Given the description of an element on the screen output the (x, y) to click on. 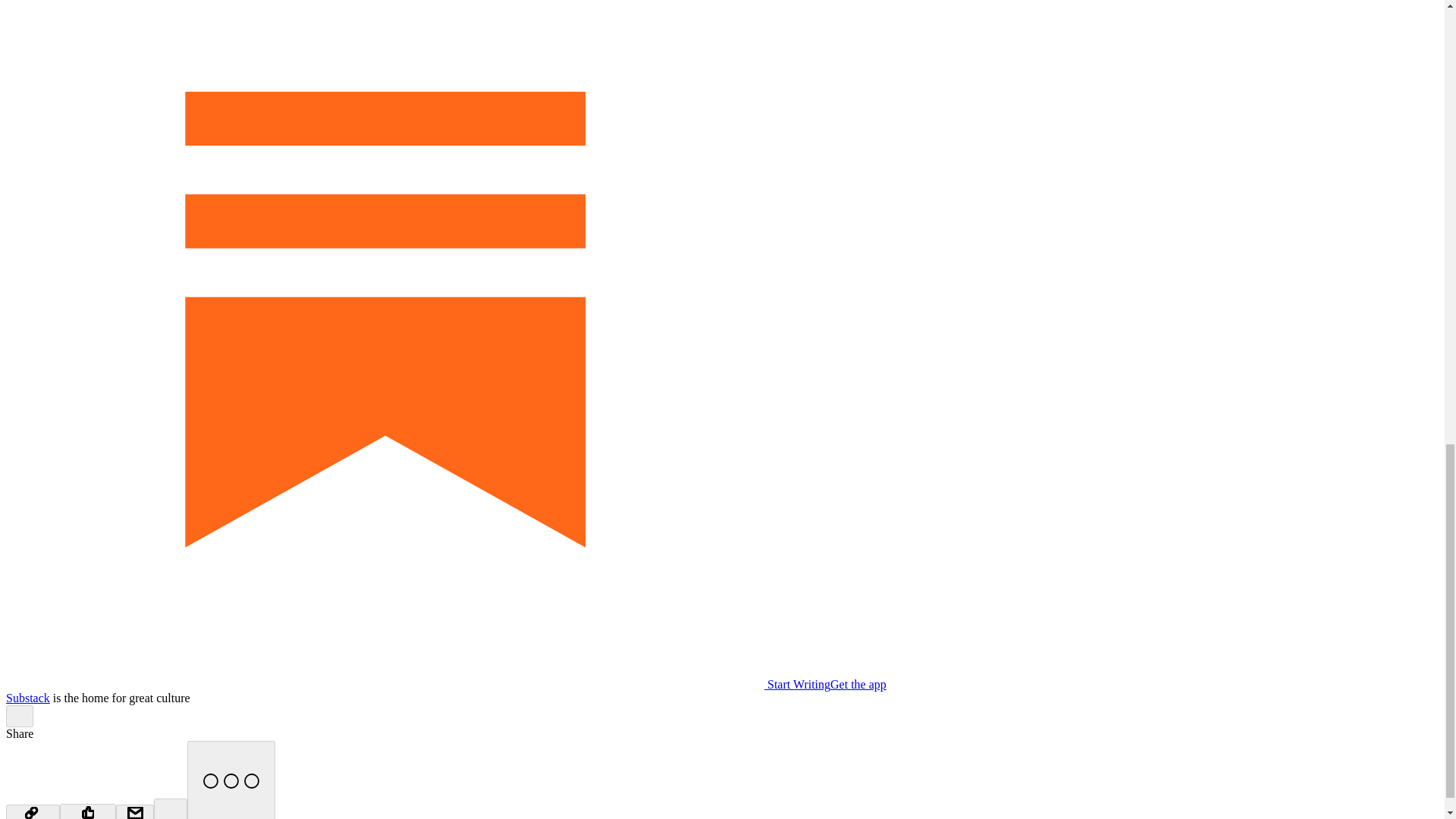
Start Writing (417, 684)
Substack (27, 697)
Get the app (857, 684)
